Given the description of an element on the screen output the (x, y) to click on. 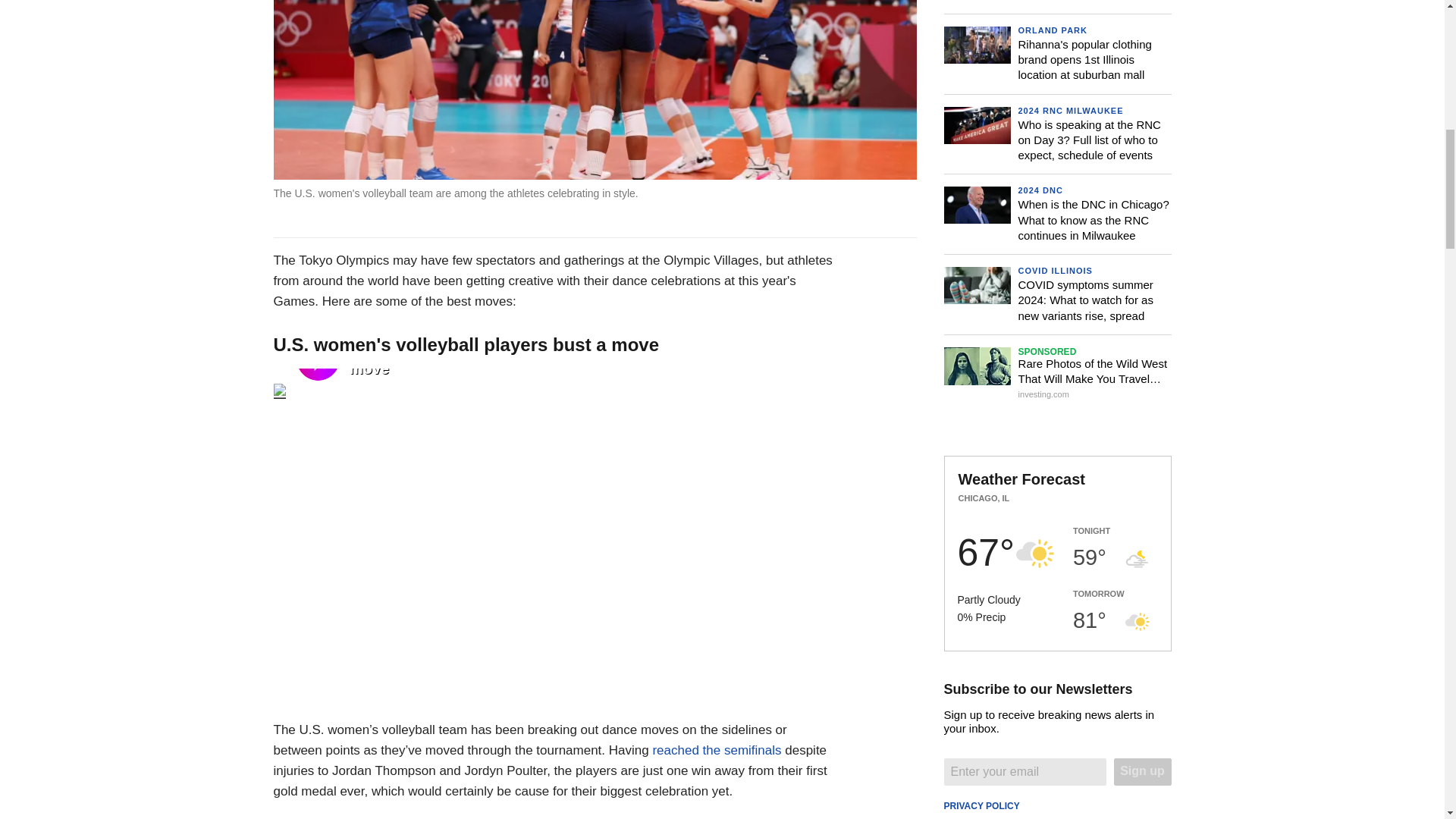
reached the semifinals (716, 749)
